Given the description of an element on the screen output the (x, y) to click on. 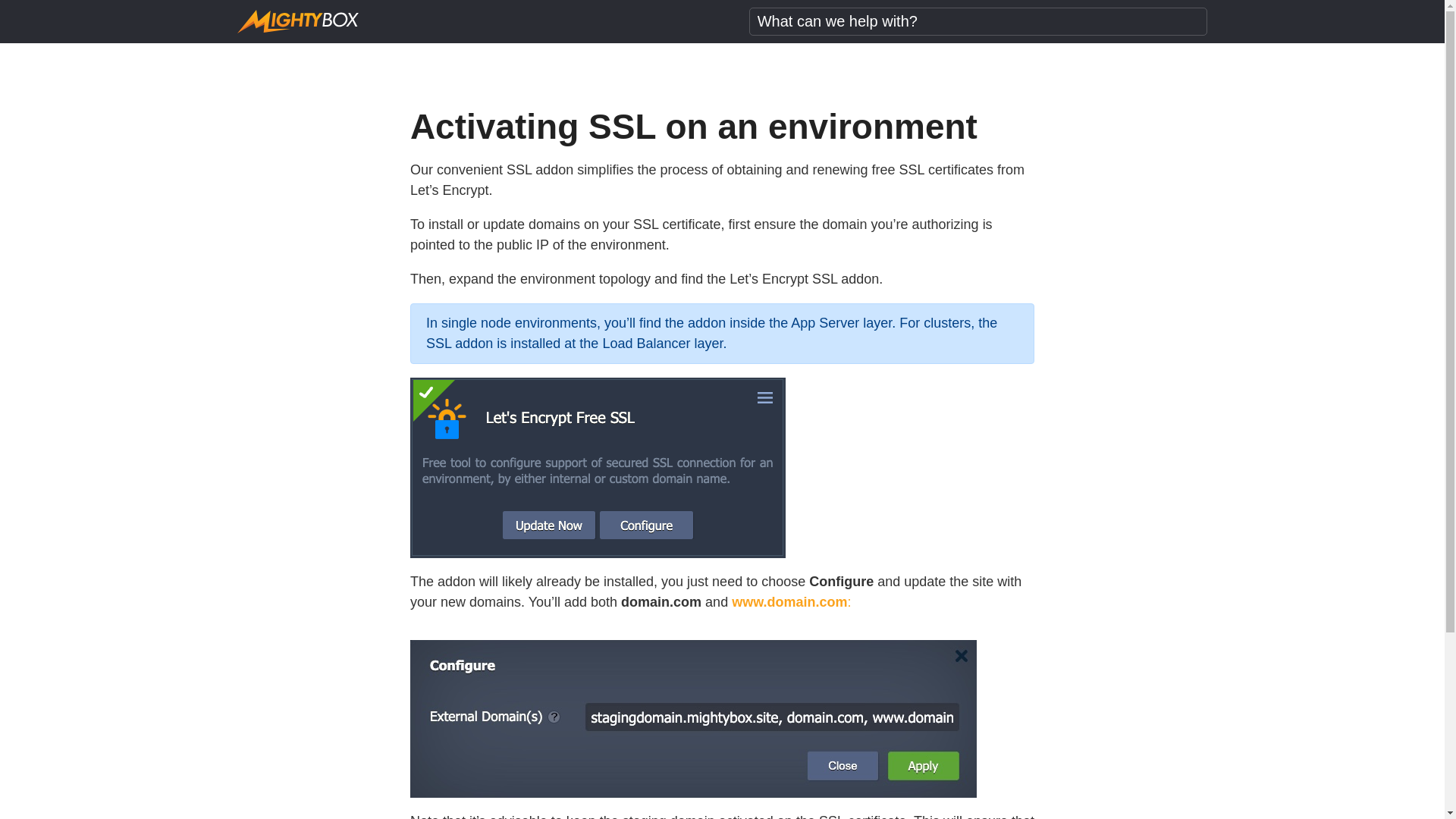
www.domain.com: (791, 601)
mightybox-logo (296, 21)
What can we help with? (978, 21)
